Given the description of an element on the screen output the (x, y) to click on. 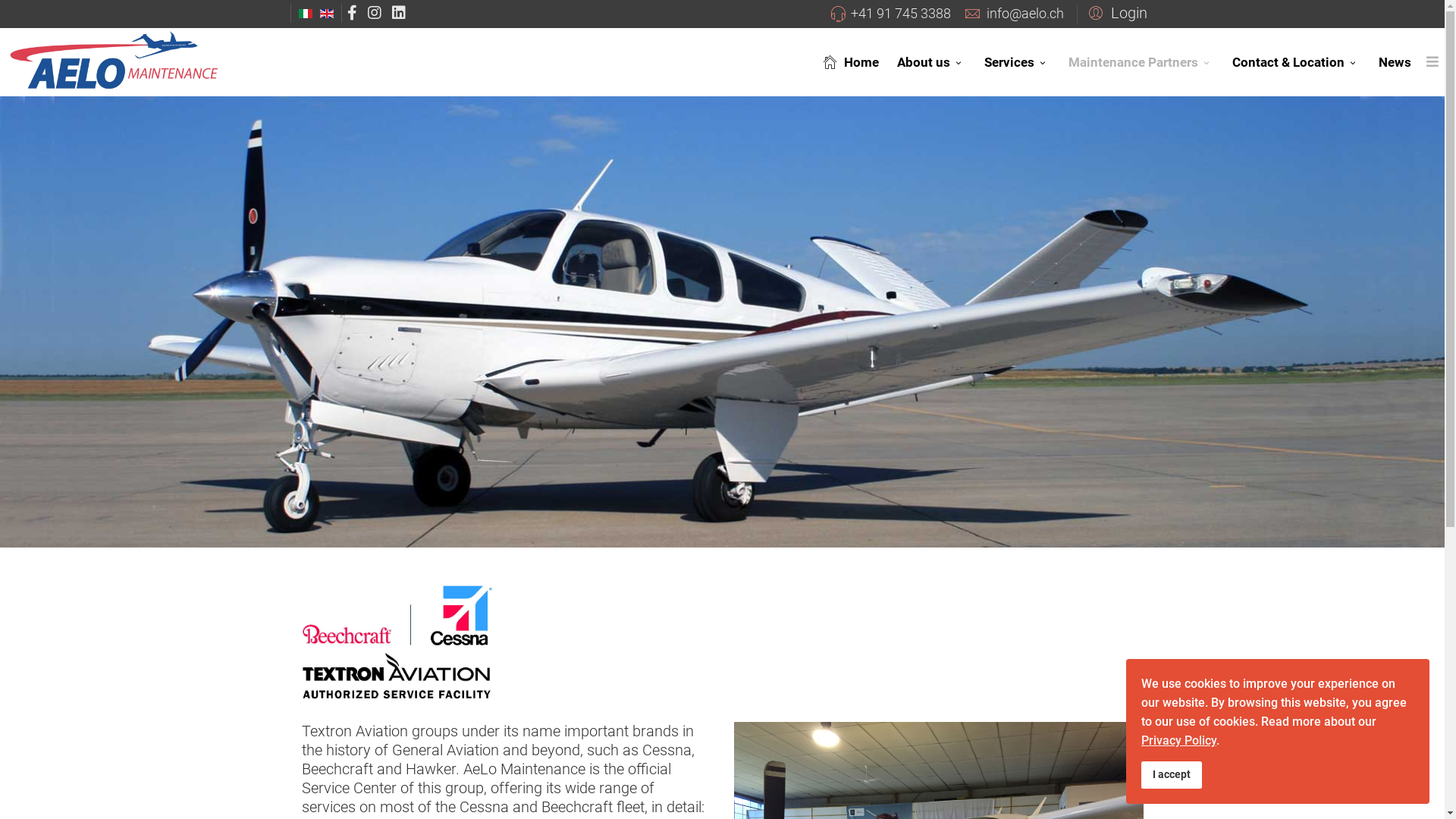
I accept Element type: text (1171, 774)
Menu Element type: hover (1432, 61)
News Element type: text (1394, 62)
Home Element type: text (847, 62)
Contact & Location Element type: text (1296, 62)
Login Element type: text (1115, 11)
+41 91 745 3388 Element type: text (900, 13)
About us Element type: text (931, 62)
Services Element type: text (1017, 62)
info@aelo.ch Element type: text (1024, 13)
Maintenance Partners Element type: text (1141, 62)
Privacy Policy Element type: text (1178, 740)
